Given the description of an element on the screen output the (x, y) to click on. 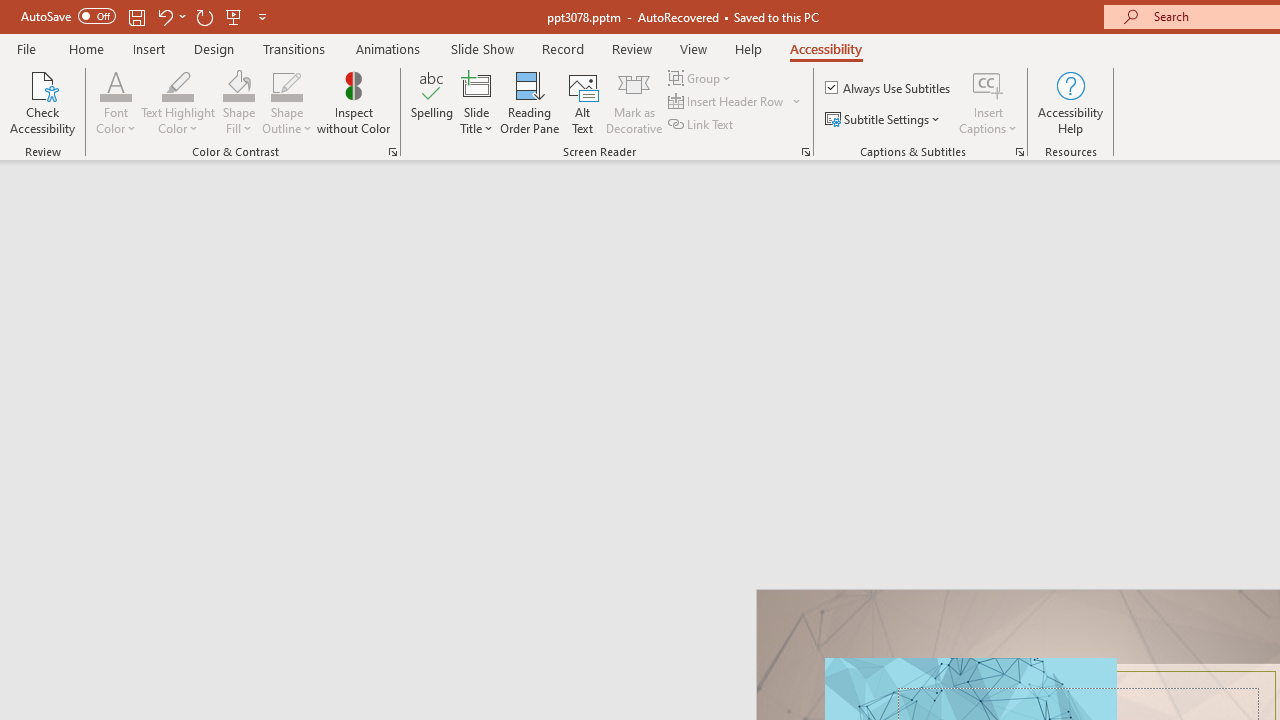
Inspect without Color (353, 102)
Insert Captions (988, 102)
Text Highlight Color (178, 102)
Spelling... (432, 102)
Always Use Subtitles (889, 87)
Shape Fill (238, 84)
Font Color (116, 84)
Font Color (116, 102)
